Given the description of an element on the screen output the (x, y) to click on. 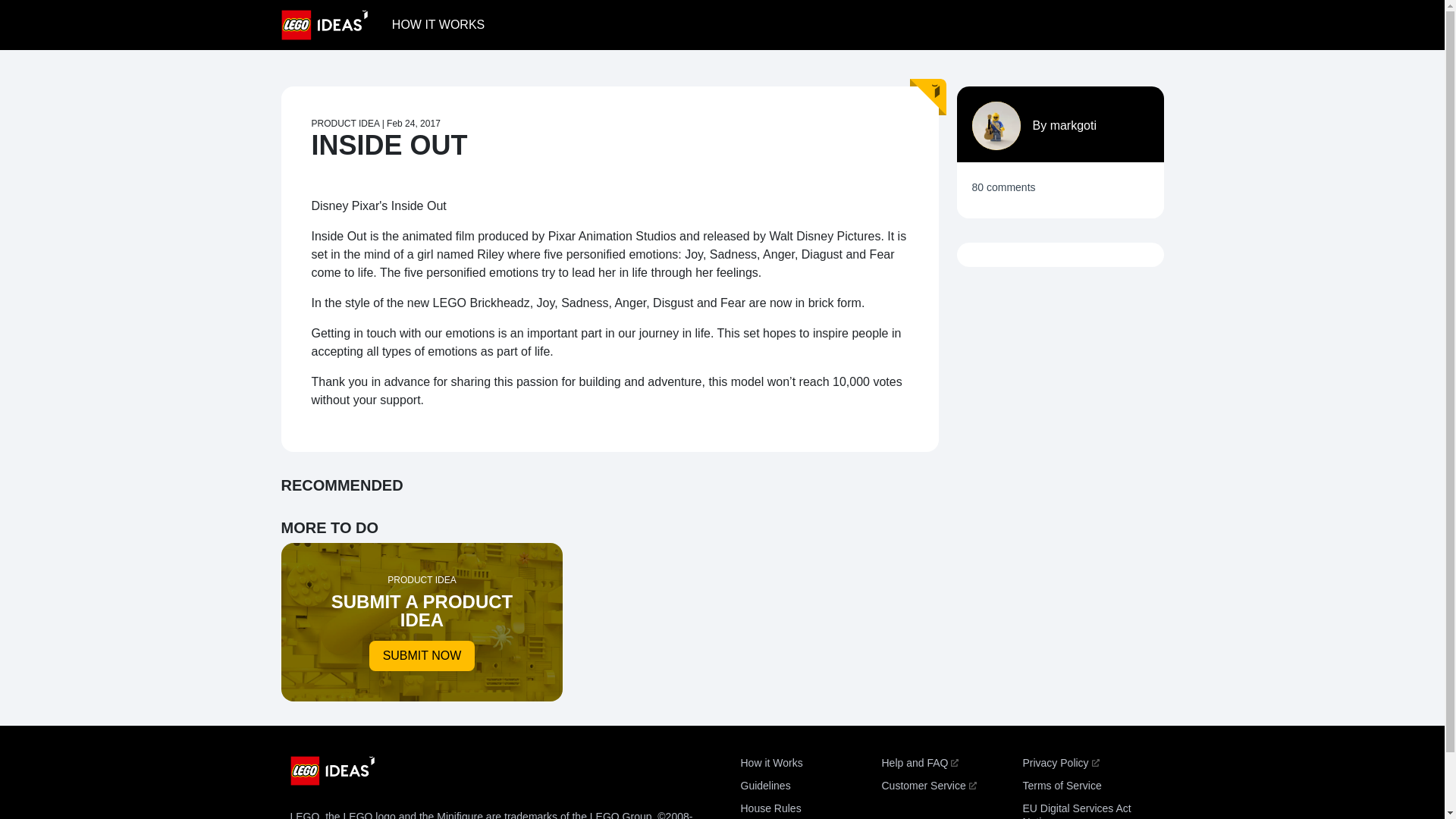
Guidelines (764, 785)
HOW IT WORKS (438, 24)
Help and FAQ (919, 762)
Privacy Policy (1060, 762)
Customer Service (927, 785)
How it Works (770, 762)
markgoti (1072, 124)
How It Works (438, 24)
EU Digital Services Act Notice (421, 621)
Terms of Service (1076, 810)
2017-02-24T11:21:06Z (1061, 785)
House Rules (414, 122)
